Given the description of an element on the screen output the (x, y) to click on. 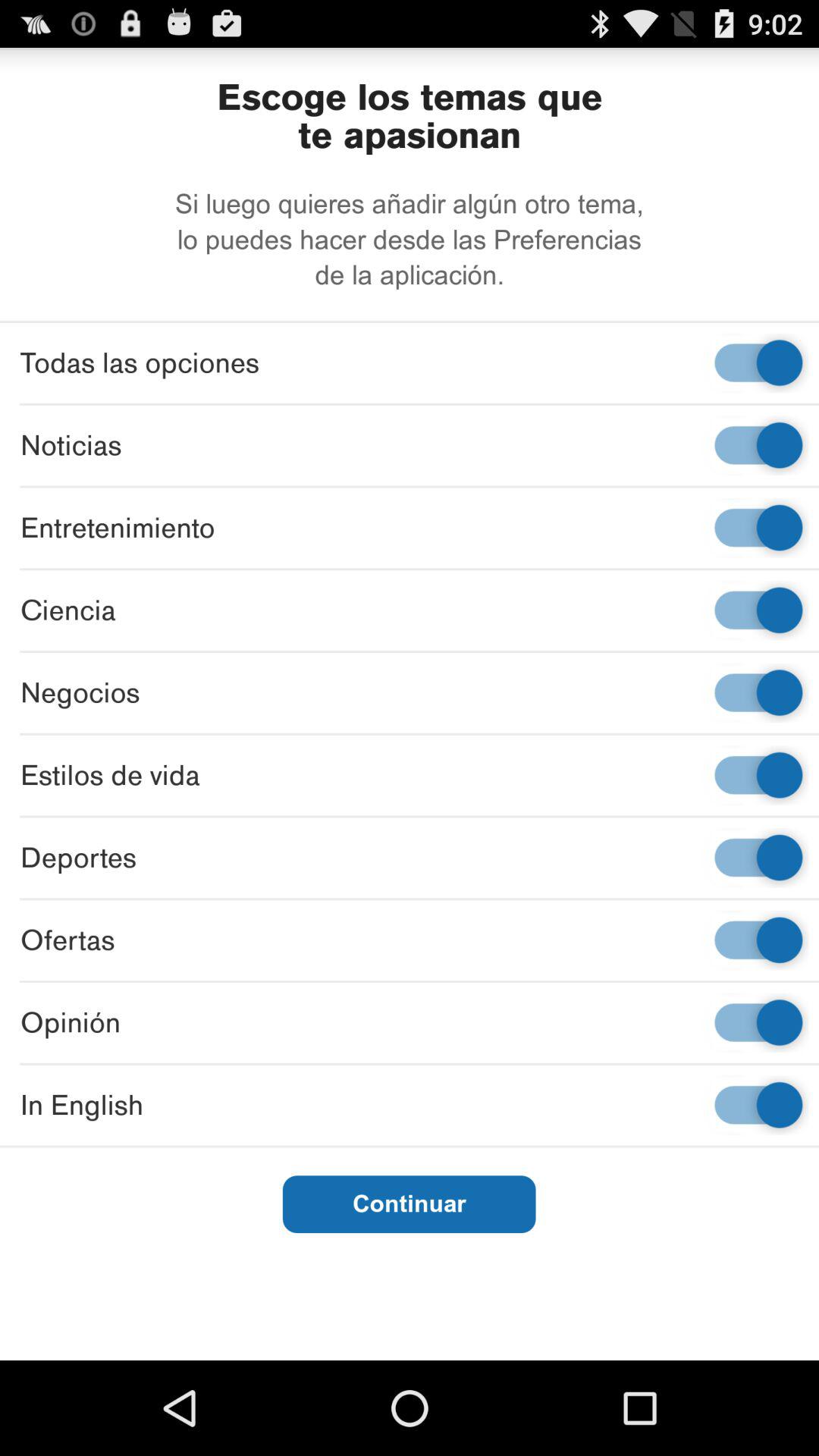
swipe to continuar (408, 1204)
